Given the description of an element on the screen output the (x, y) to click on. 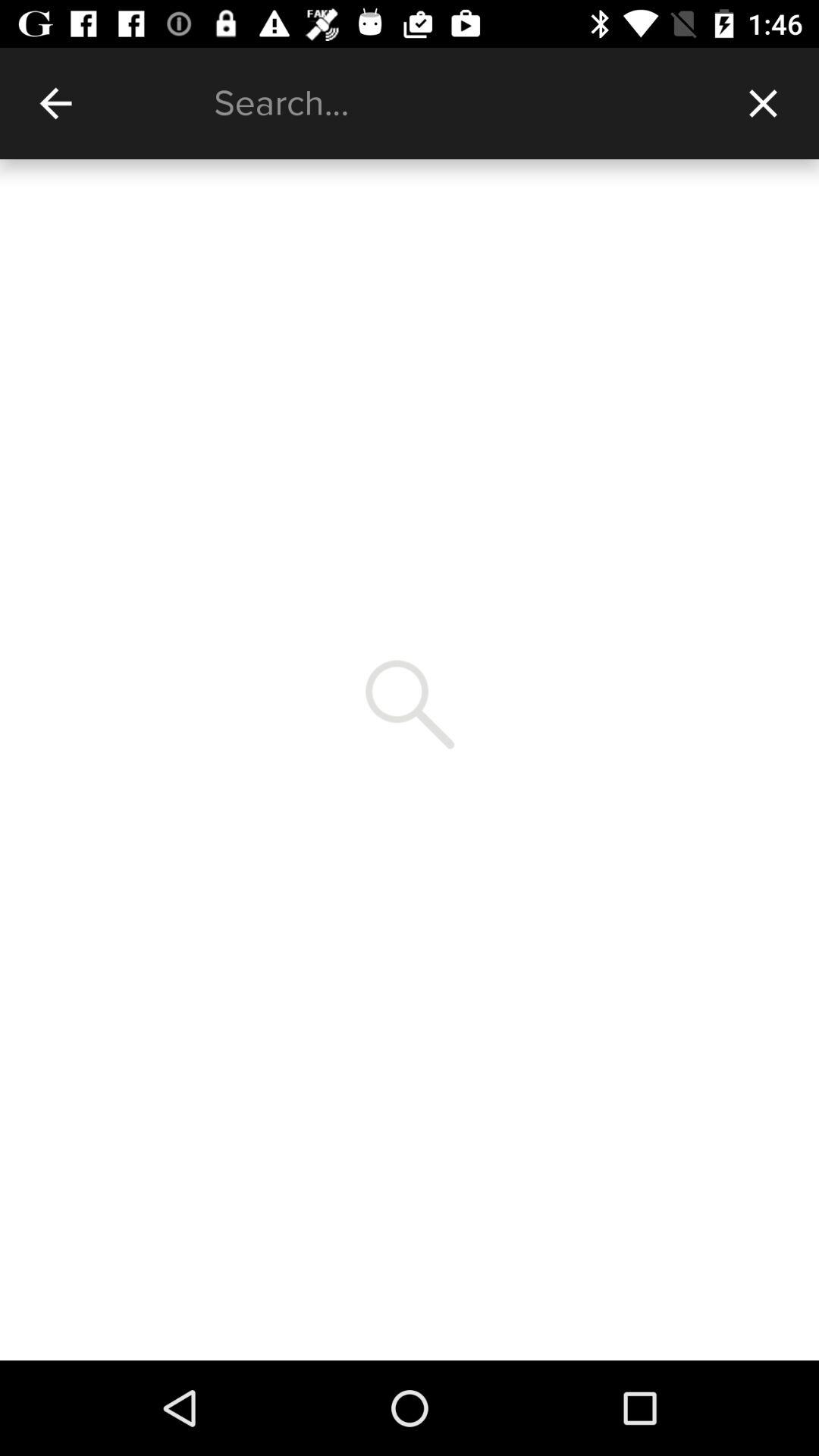
launch item at the top right corner (763, 103)
